Given the description of an element on the screen output the (x, y) to click on. 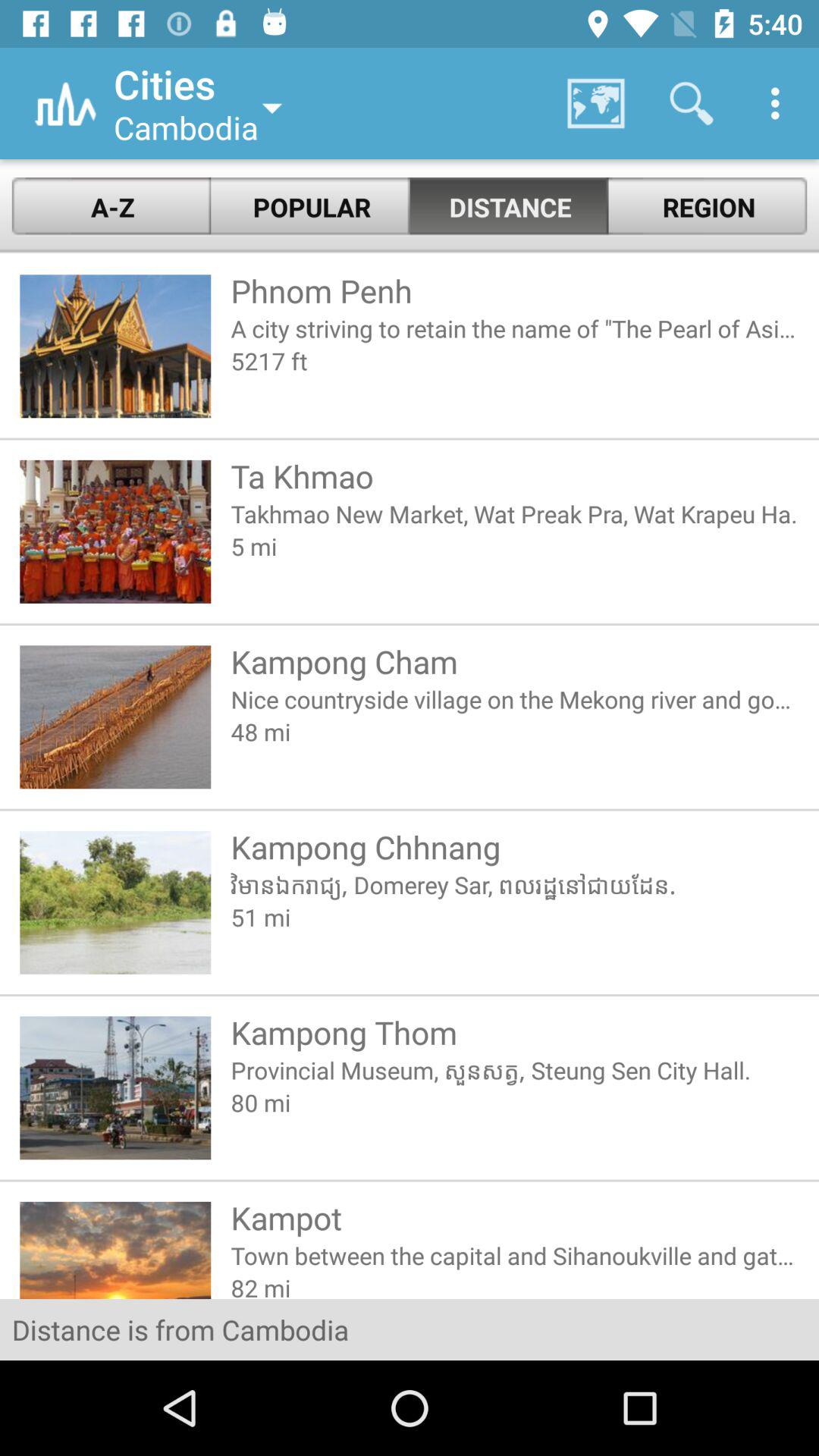
scroll until 48 mi (514, 731)
